Given the description of an element on the screen output the (x, y) to click on. 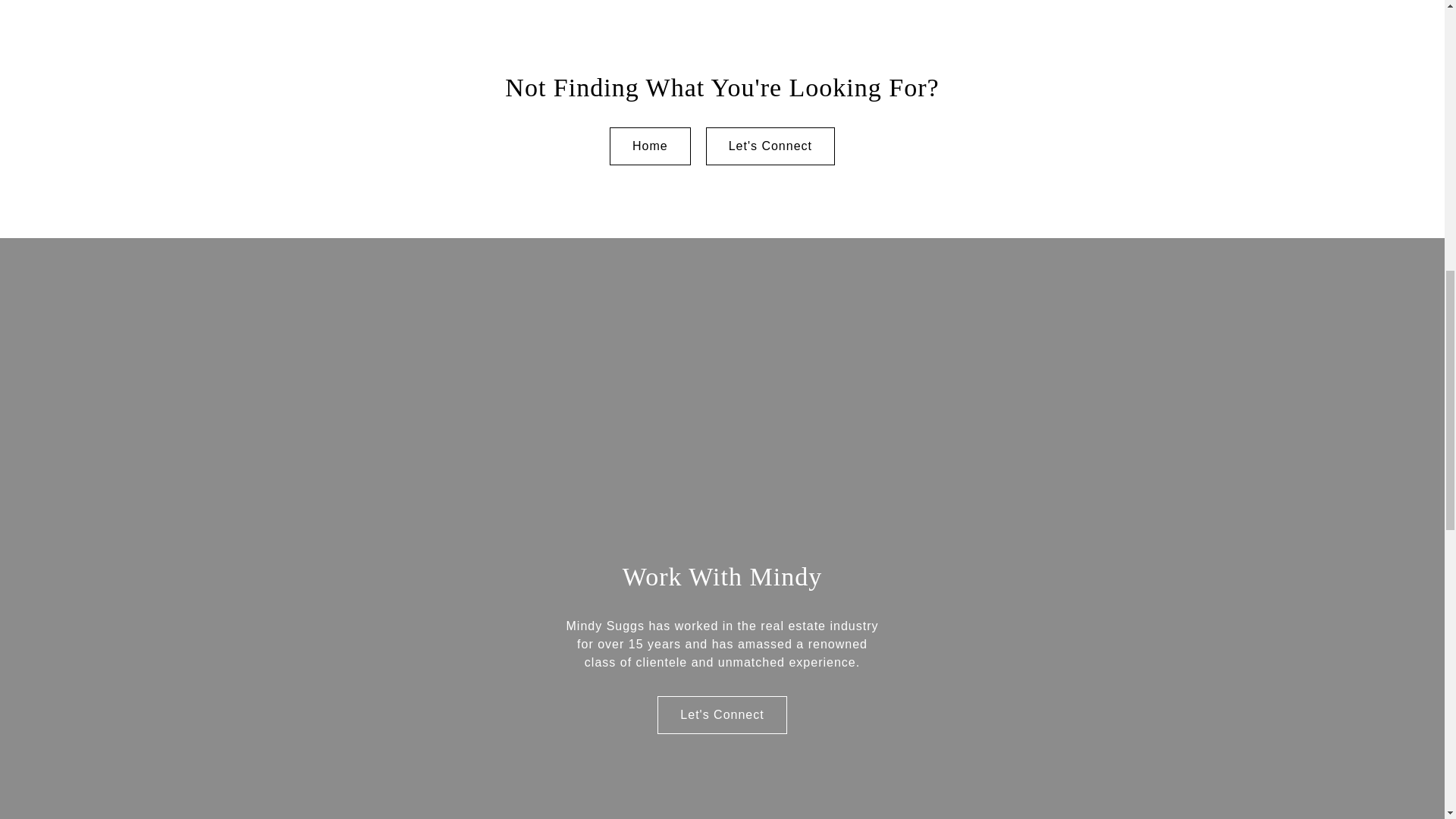
Let'S Connect (722, 714)
Let'S Connect (770, 146)
Home (650, 146)
